Given the description of an element on the screen output the (x, y) to click on. 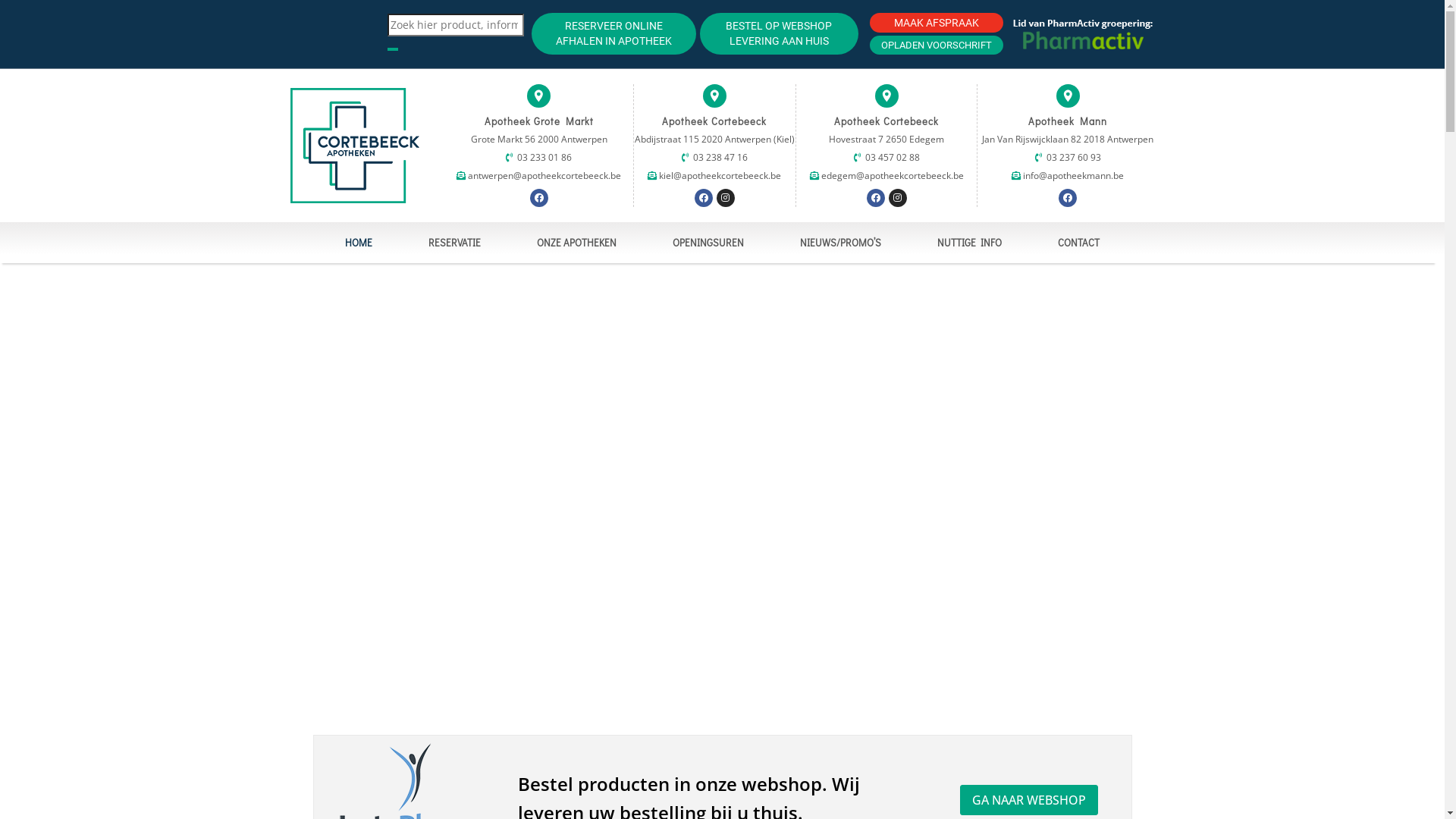
RESERVEER ONLINE AFHALEN IN APOTHEEK Element type: text (613, 33)
HOME Element type: text (358, 242)
BESTEL OP WEBSHOP LEVERING AAN HUIS Element type: text (778, 33)
OPENINGSUREN Element type: text (708, 242)
edegem@apotheekcortebeeck.be Element type: text (891, 175)
OPLADEN VOORSCHRIFT Element type: text (936, 44)
info@apotheekmann.be Element type: text (1071, 175)
MAAK AFSPRAAK Element type: text (936, 22)
ONZE APOTHEKEN Element type: text (576, 242)
NUTTIGE INFO Element type: text (969, 242)
antwerpen@apotheekcortebeeck.be Element type: text (543, 175)
kiel@apotheekcortebeeck.be Element type: text (718, 175)
GA NAAR WEBSHOP Element type: text (1029, 799)
RESERVATIE Element type: text (454, 242)
CONTACT Element type: text (1078, 242)
